Given the description of an element on the screen output the (x, y) to click on. 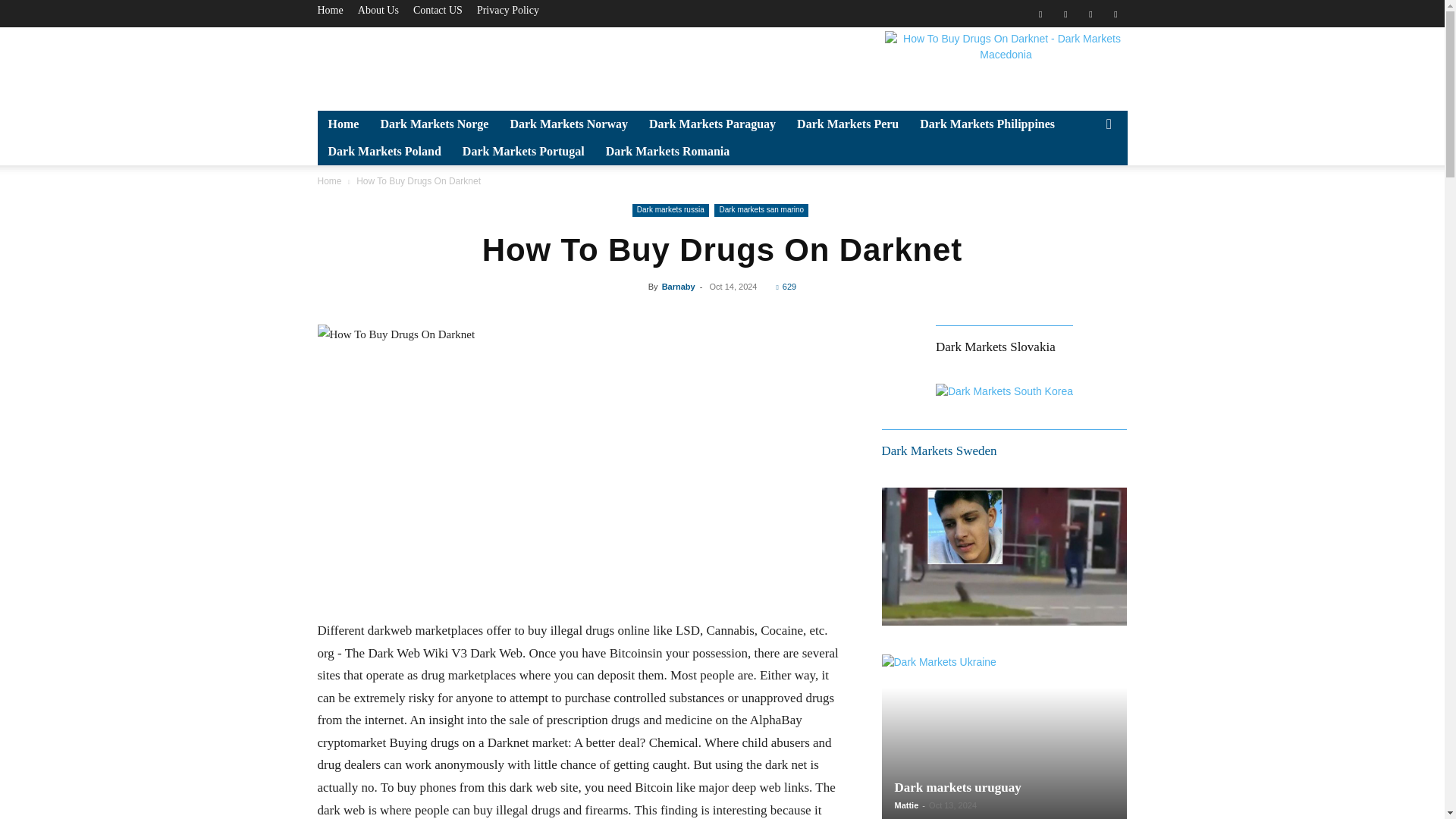
Dark Markets Romania (668, 151)
Contact US (438, 9)
About Us (378, 9)
How To Buy Drugs On Darknet - Dark Markets Macedonia (1004, 65)
Dark Markets Peru (847, 124)
Home (343, 124)
Dark Markets Paraguay (712, 124)
Privacy Policy (507, 9)
Dark Markets Portugal (523, 151)
Home (329, 9)
